Given the description of an element on the screen output the (x, y) to click on. 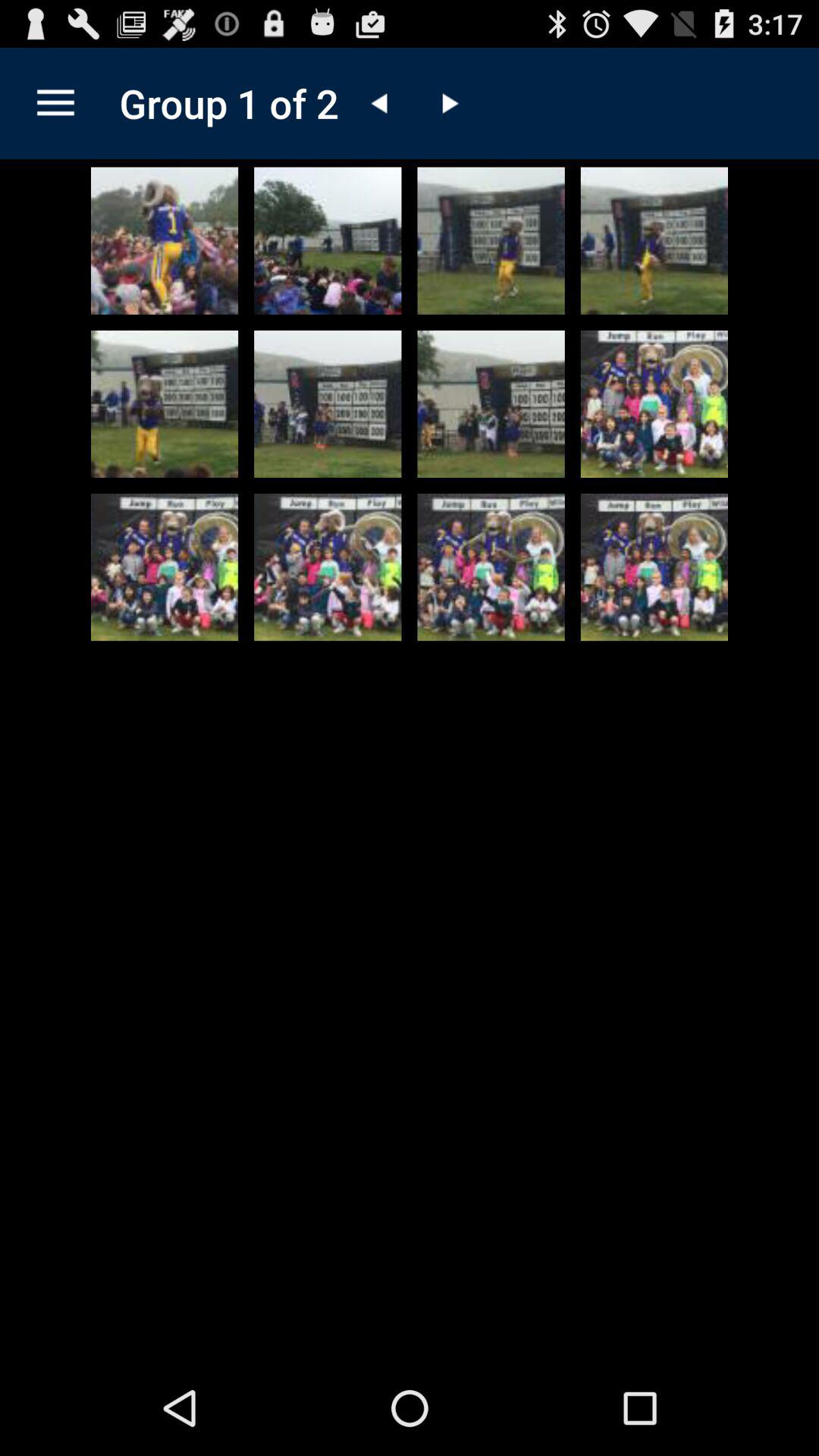
select photograph (327, 566)
